Given the description of an element on the screen output the (x, y) to click on. 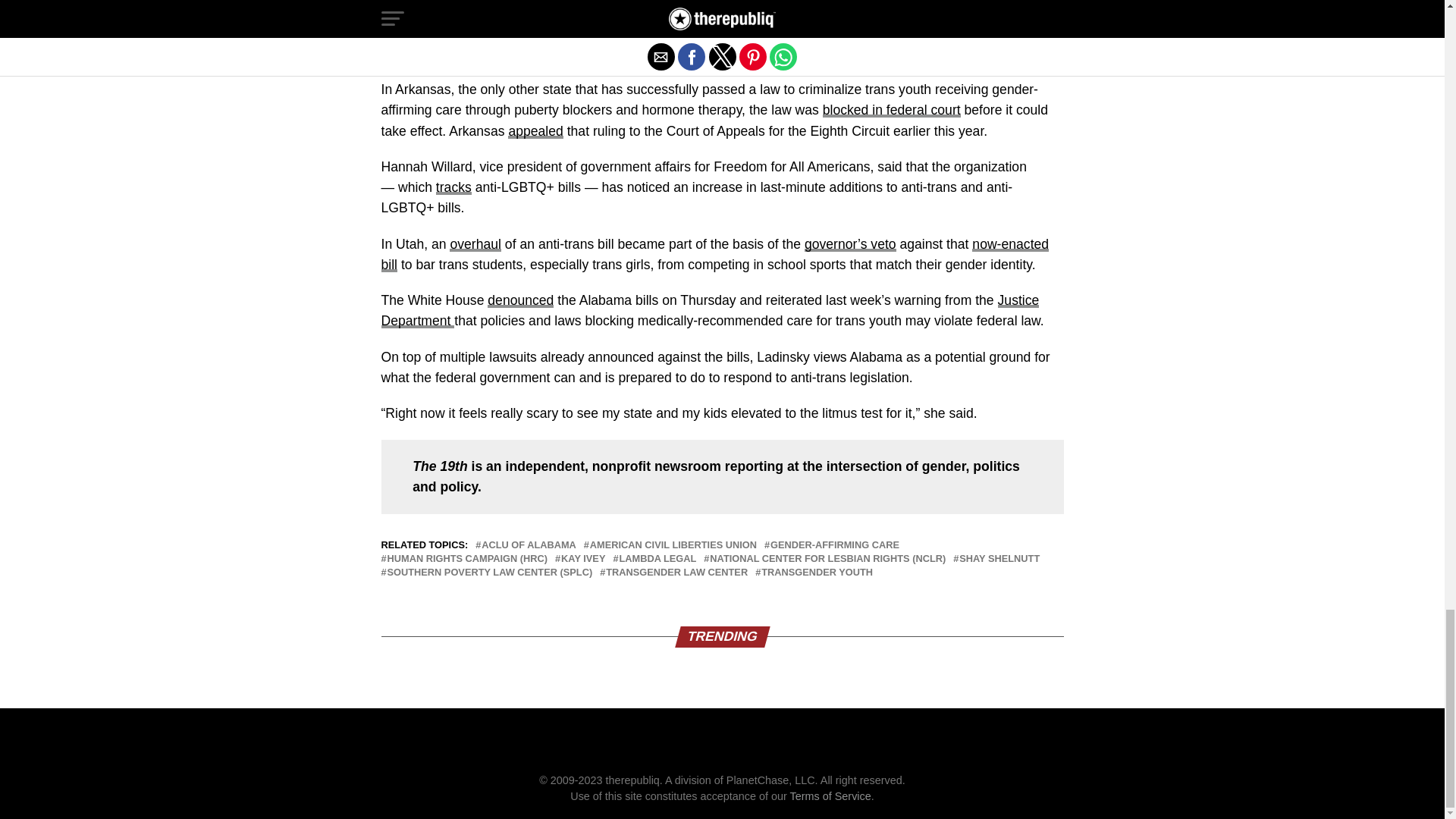
SHAY SHELNUTT (999, 559)
tracks (453, 186)
blocked in federal court (891, 109)
now-enacted bill (714, 253)
Justice Department  (709, 310)
TRANSGENDER YOUTH (816, 573)
overhaul (474, 243)
GENDER-AFFIRMING CARE (834, 545)
LAMBDA LEGAL (656, 559)
KAY IVEY (582, 559)
AMERICAN CIVIL LIBERTIES UNION (673, 545)
appealed (535, 130)
denounced (520, 299)
TRANSGENDER LAW CENTER (676, 573)
Terms of Service (830, 796)
